Given the description of an element on the screen output the (x, y) to click on. 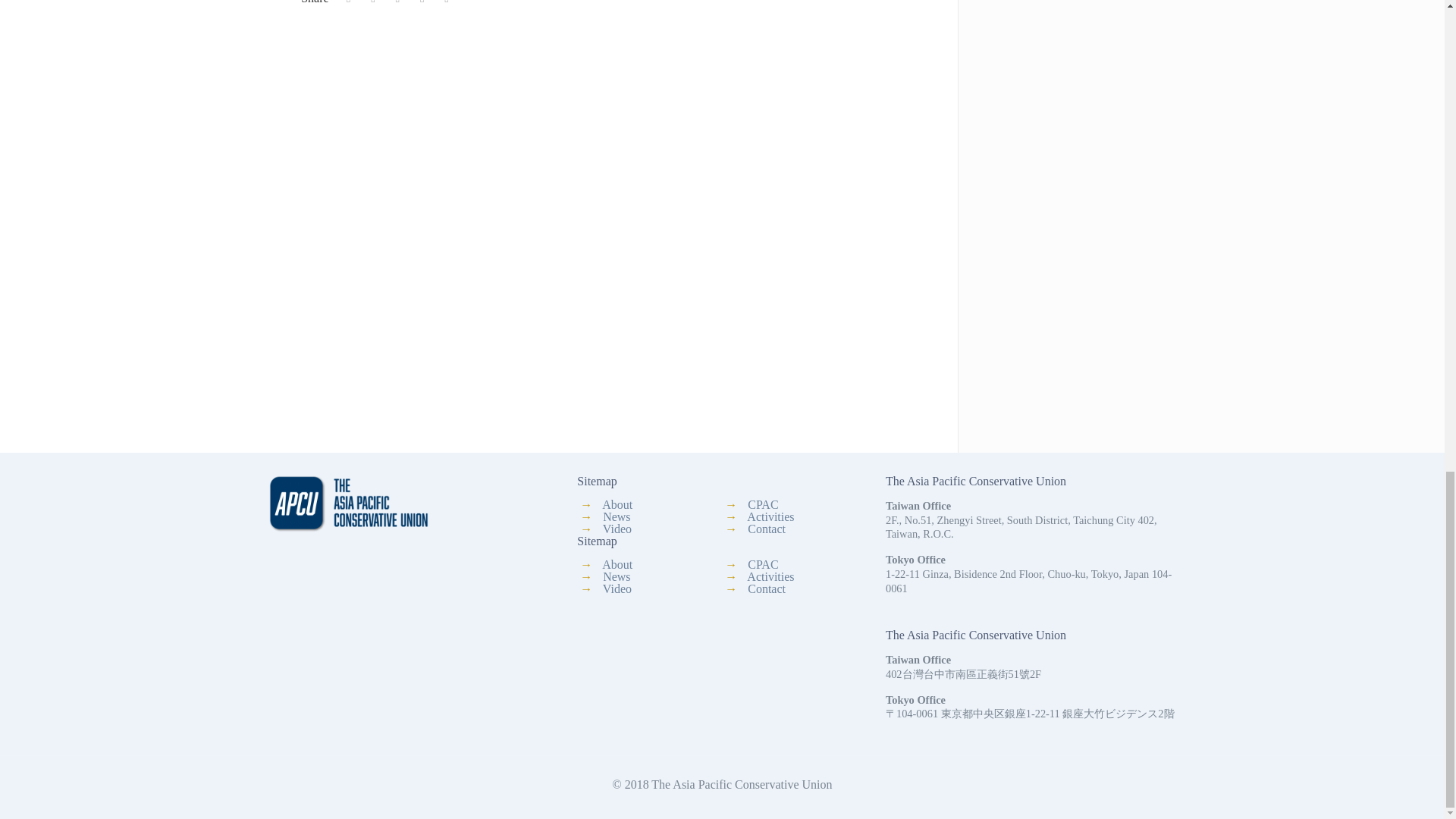
CPAC (762, 563)
Video (616, 588)
Video (616, 528)
About (616, 563)
Activities (769, 576)
News (616, 516)
News (616, 576)
CPAC (762, 504)
Contact (767, 528)
Video (616, 588)
About (616, 504)
Video (616, 528)
Contact (767, 588)
Activities (769, 516)
